Given the description of an element on the screen output the (x, y) to click on. 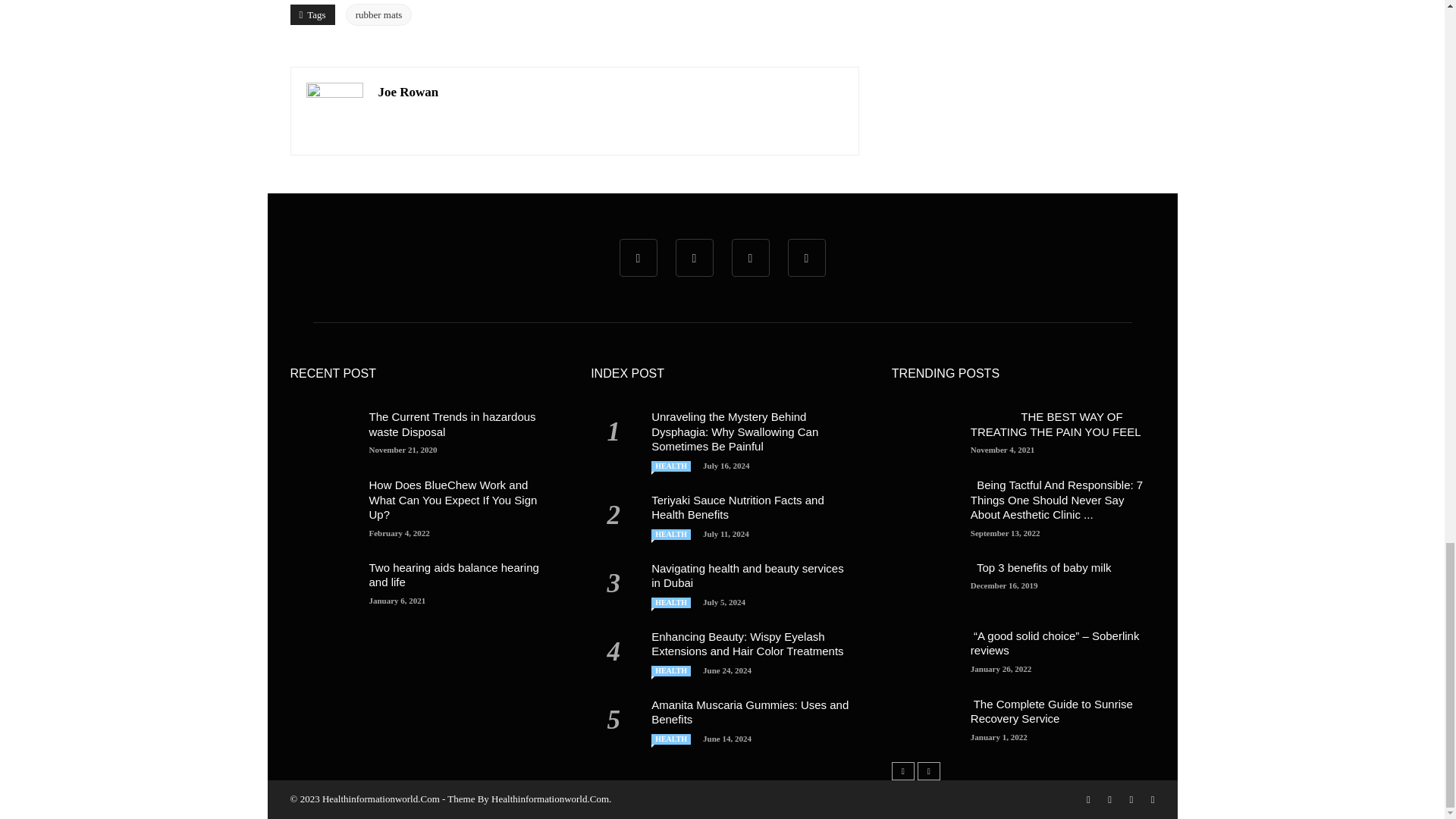
View all posts tagged rubber mats (379, 15)
Previous (902, 771)
Next (928, 771)
rubber mats (379, 15)
